Given the description of an element on the screen output the (x, y) to click on. 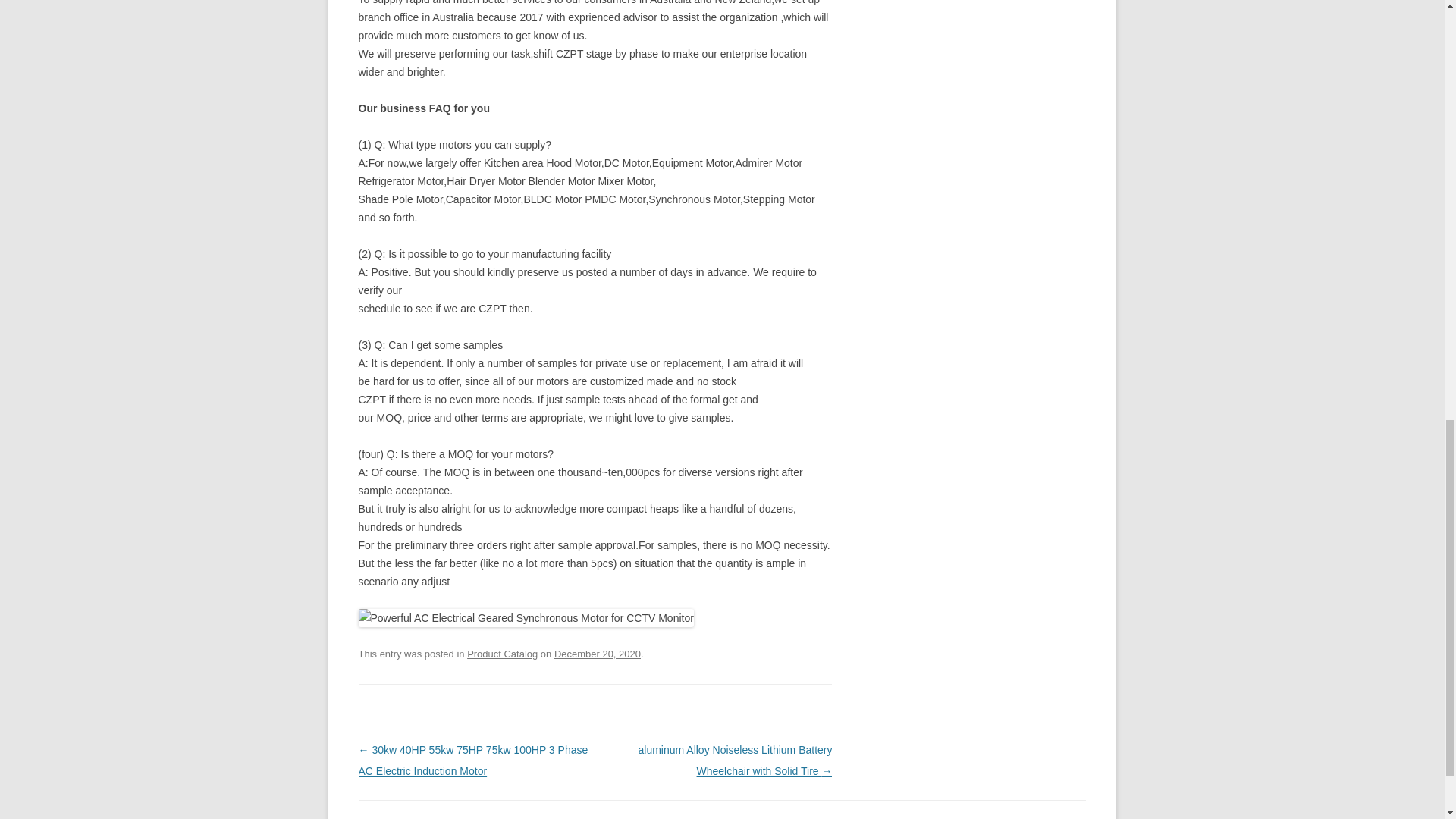
4:17 pm (597, 654)
Product Catalog (502, 654)
December 20, 2020 (597, 654)
